Given the description of an element on the screen output the (x, y) to click on. 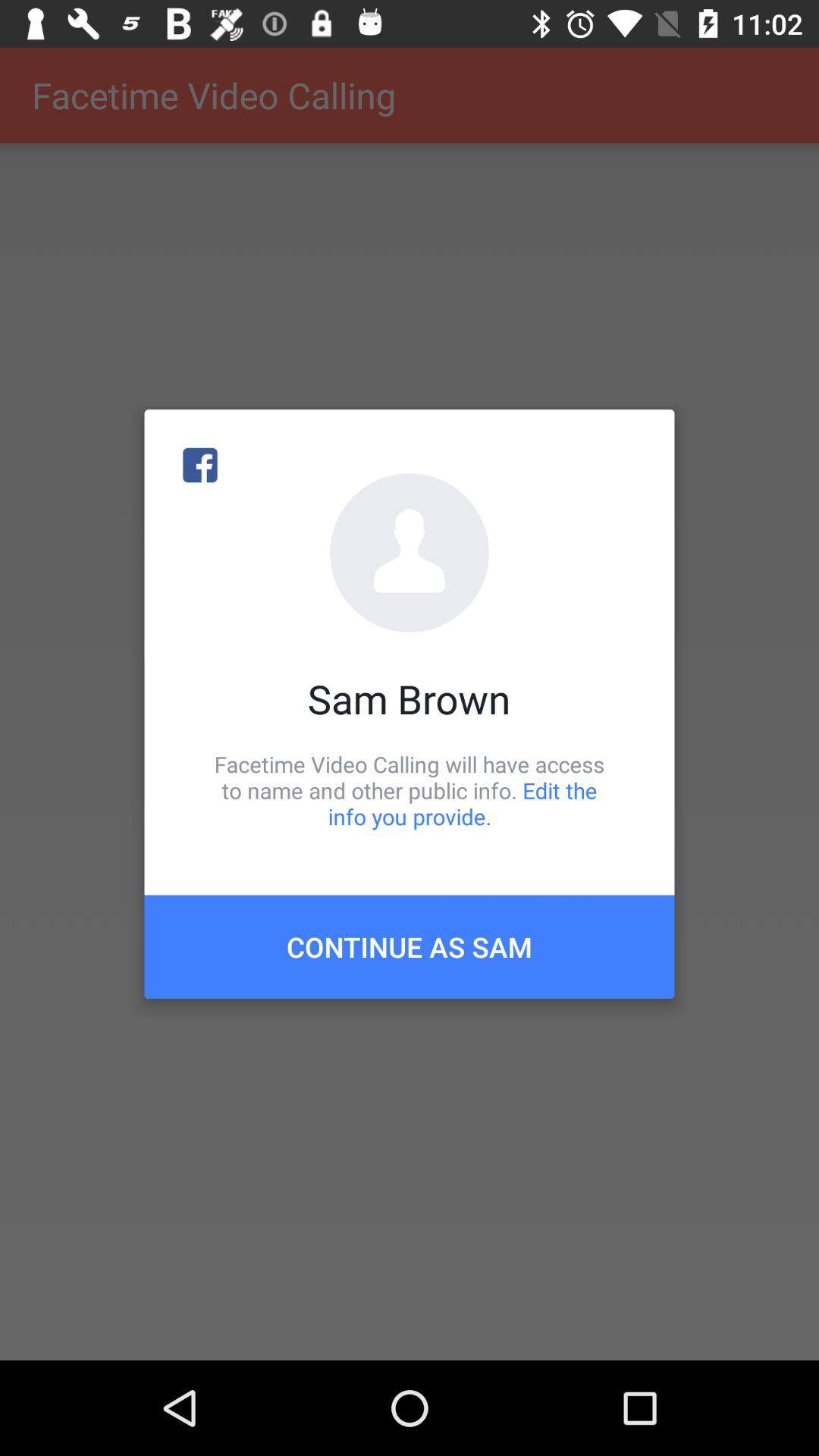
open item below the sam brown icon (409, 790)
